Given the description of an element on the screen output the (x, y) to click on. 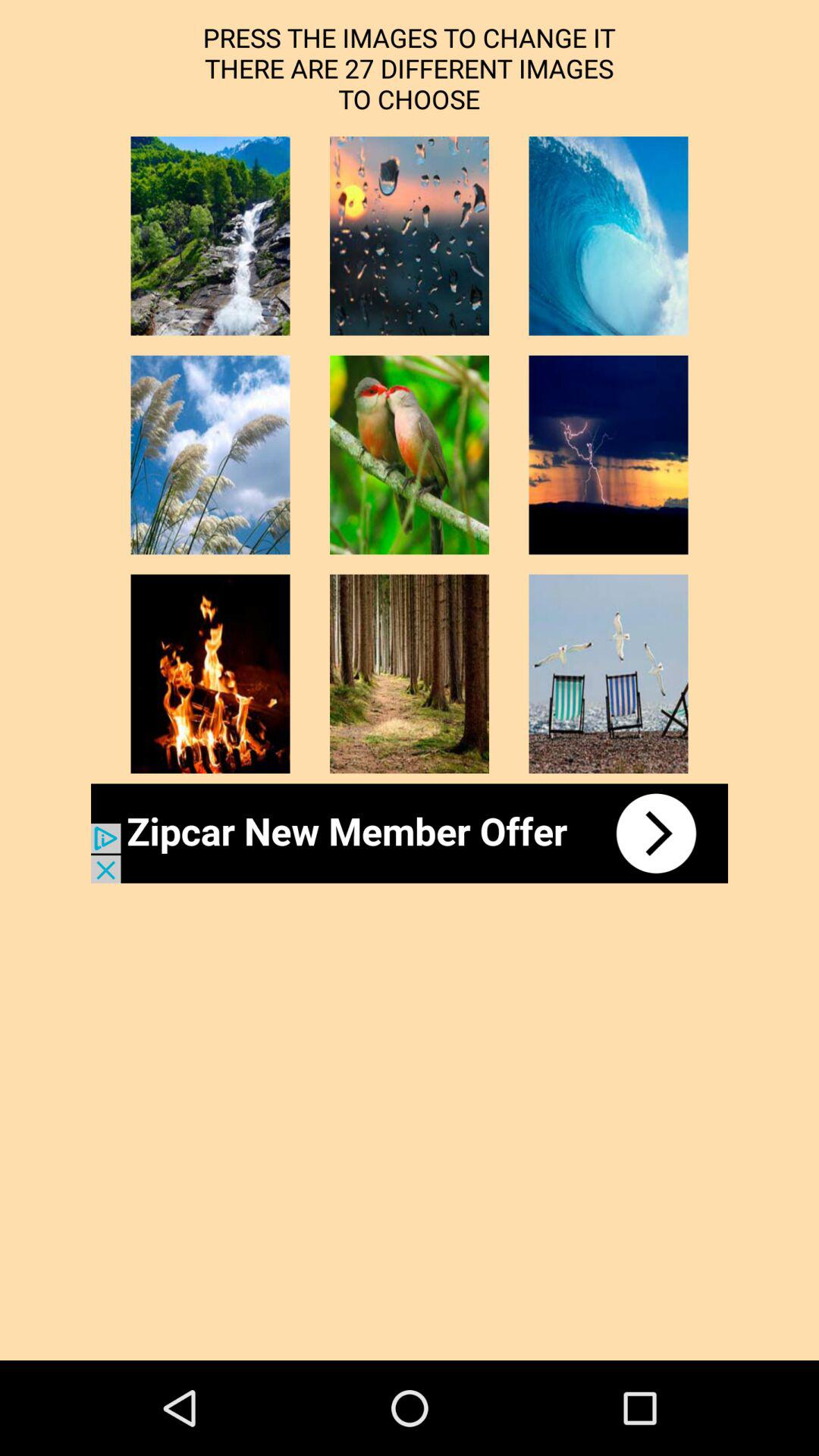
select fire (210, 673)
